Given the description of an element on the screen output the (x, y) to click on. 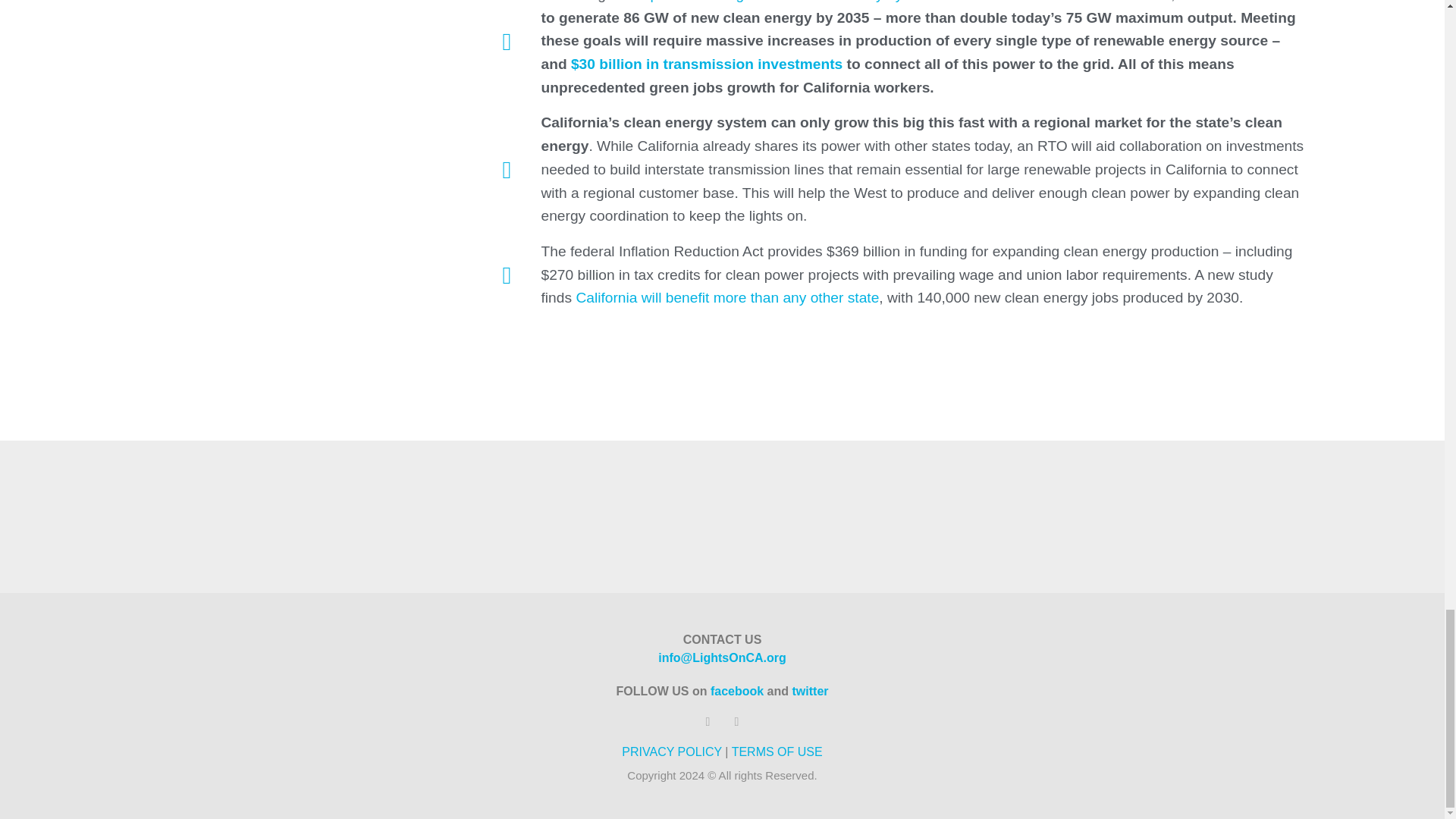
twitter (810, 690)
California will benefit more than any other state (727, 297)
PRIVACY POLICY (671, 751)
TERMS OF USE (777, 751)
facebook (736, 690)
